Given the description of an element on the screen output the (x, y) to click on. 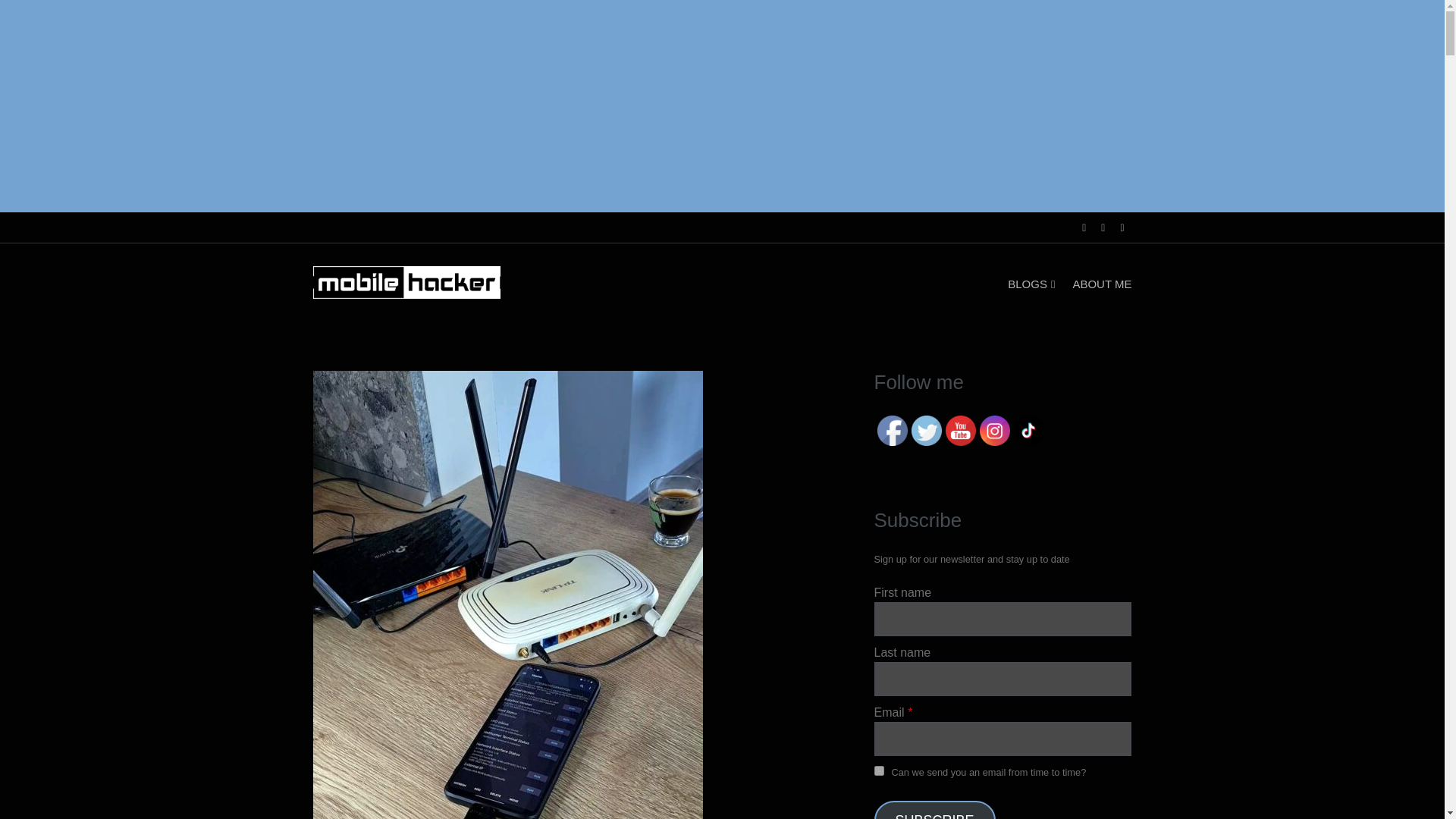
BLOGS (1032, 284)
Tiktok (1028, 430)
Facebook (891, 430)
on (878, 770)
Twitter (926, 430)
YouTube (959, 430)
Instagram (994, 430)
